Given the description of an element on the screen output the (x, y) to click on. 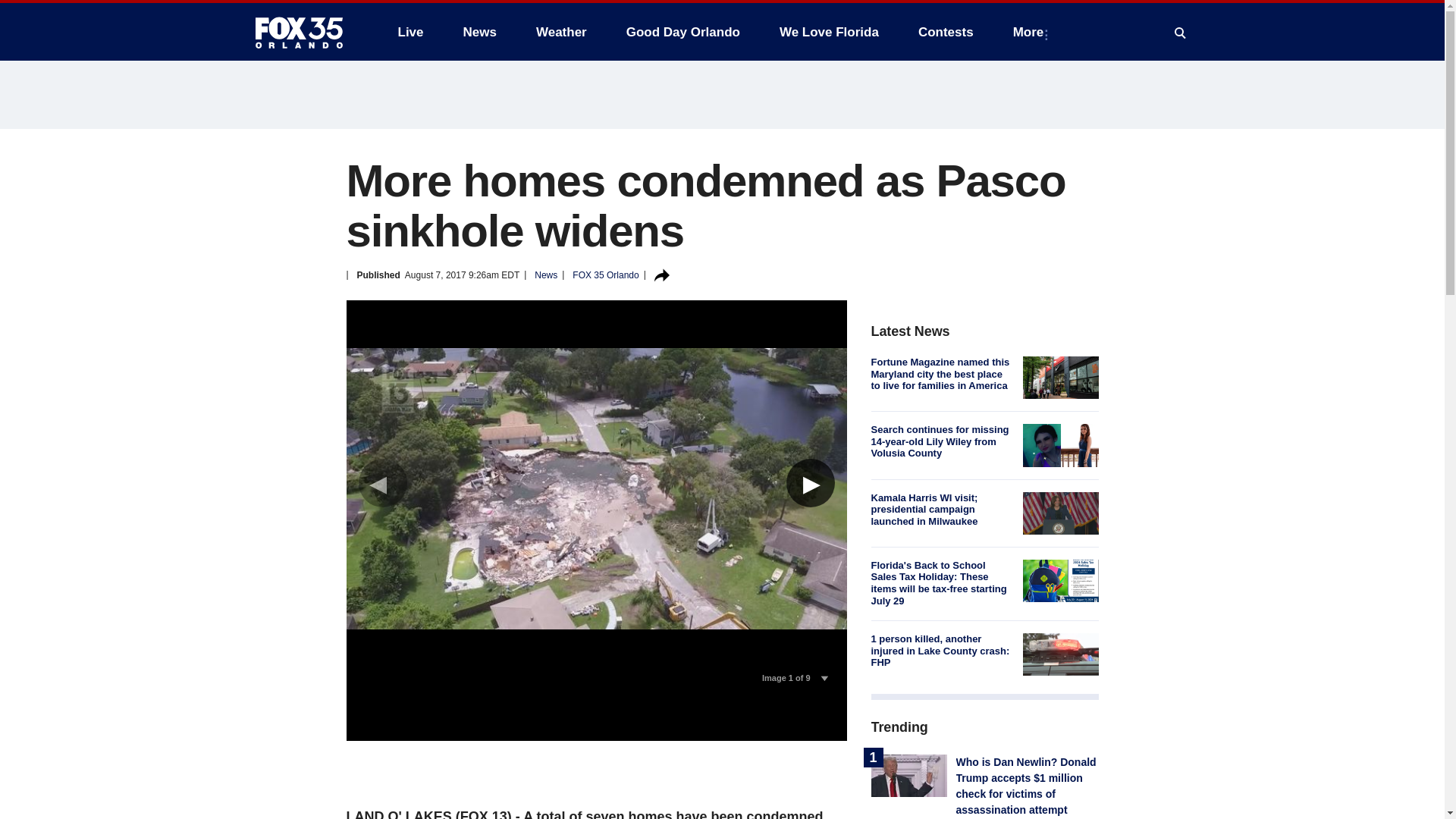
News (479, 32)
Good Day Orlando (683, 32)
More (1031, 32)
Live (410, 32)
Weather (561, 32)
We Love Florida (829, 32)
Contests (945, 32)
